Given the description of an element on the screen output the (x, y) to click on. 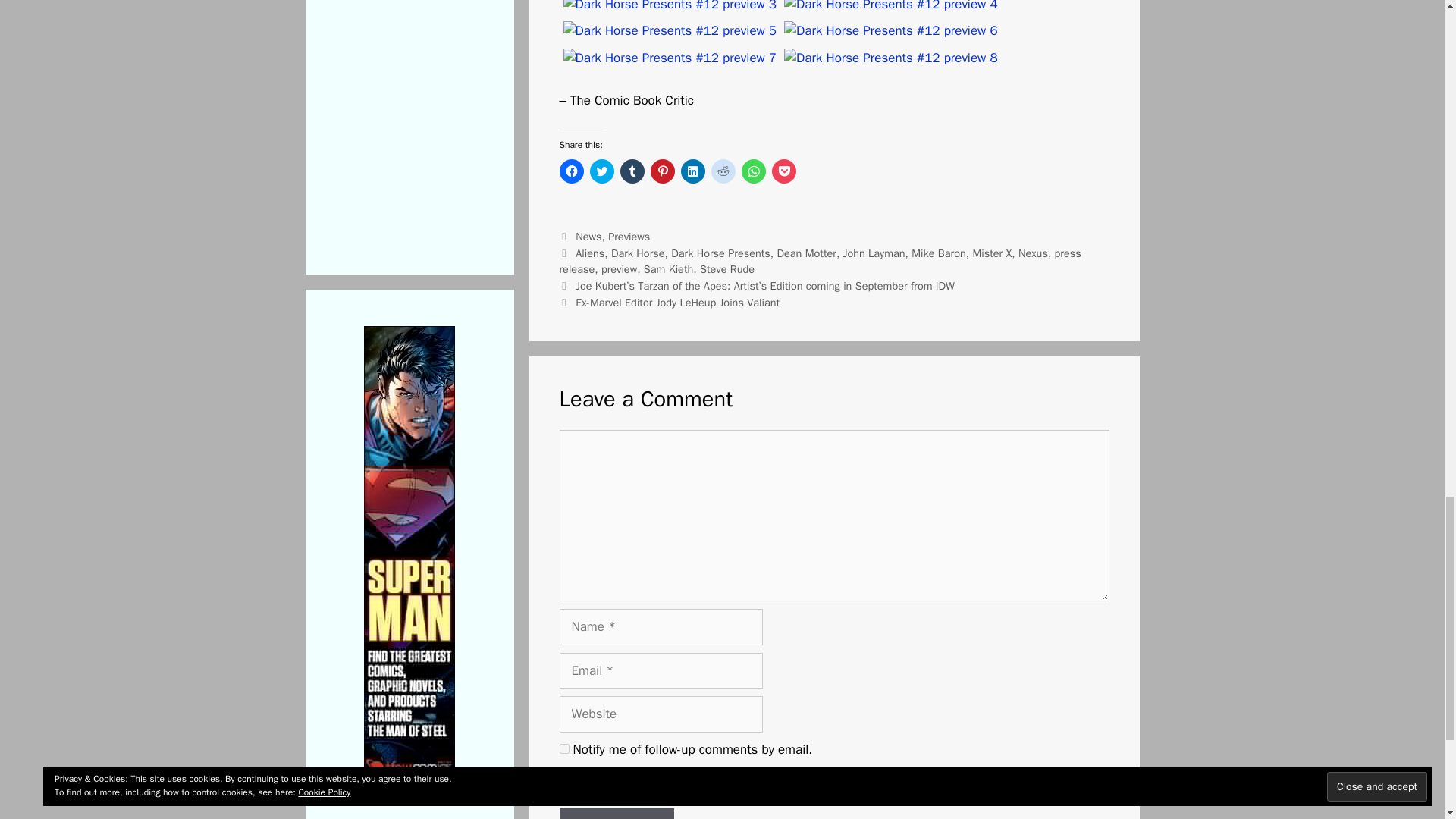
subscribe (564, 782)
Post Comment (616, 813)
subscribe (564, 748)
